Given the description of an element on the screen output the (x, y) to click on. 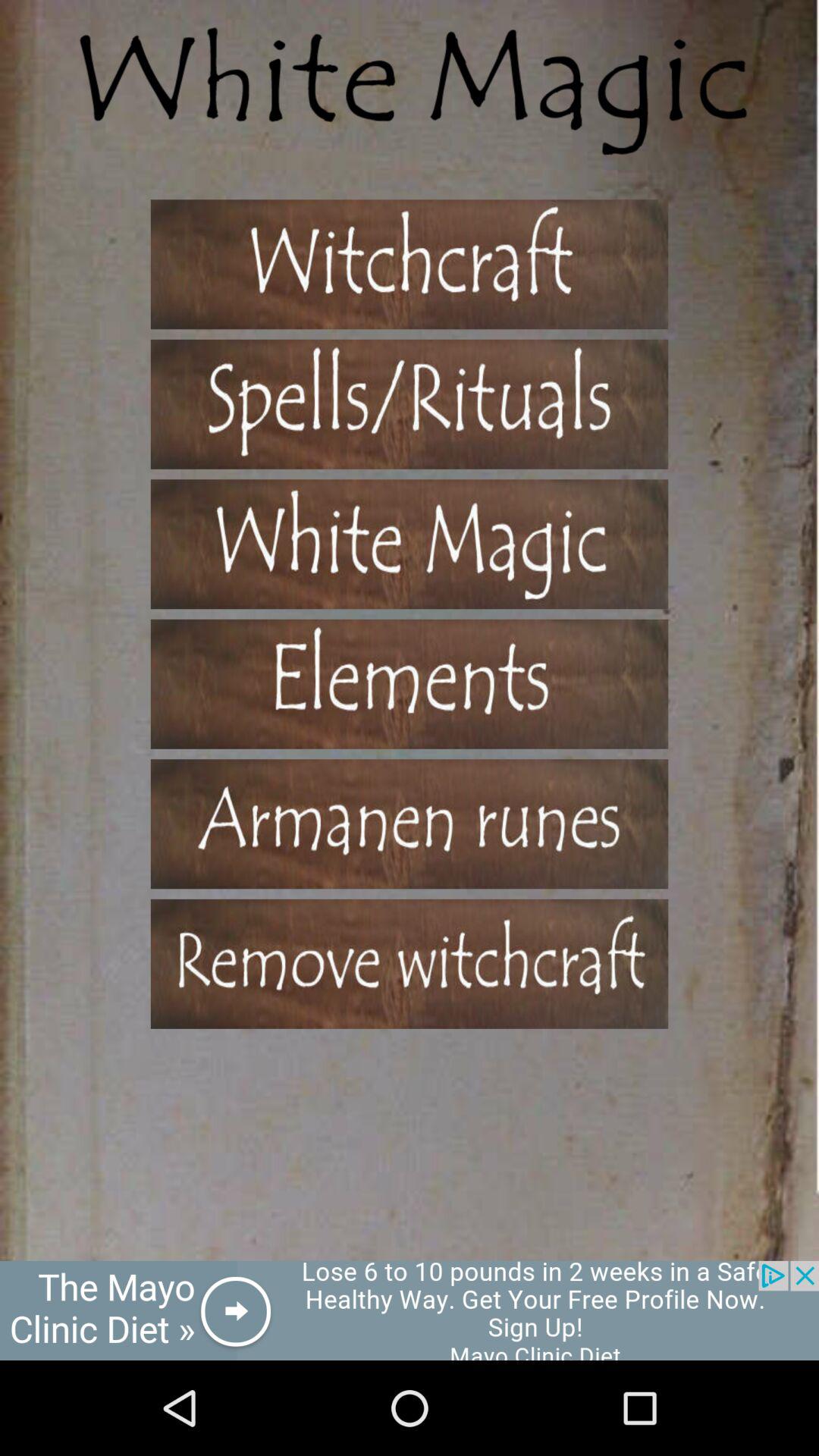
open a list of armanen runes (409, 823)
